Given the description of an element on the screen output the (x, y) to click on. 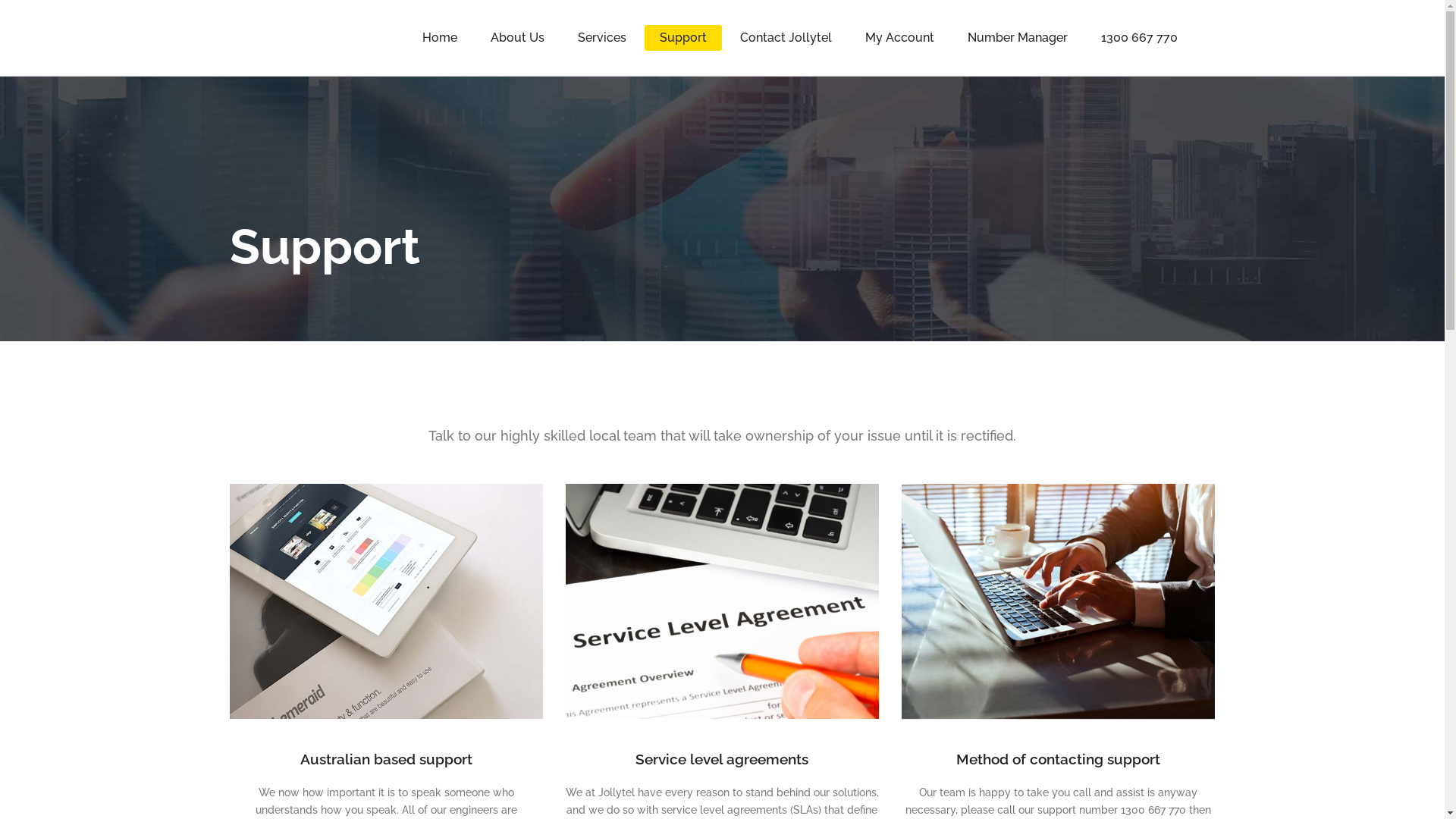
1300 667 770 Element type: text (1138, 37)
Services Element type: text (601, 37)
About Us Element type: text (516, 37)
Number Manager Element type: text (1017, 37)
Support Element type: text (682, 37)
Home Element type: text (438, 37)
My Account Element type: text (898, 37)
Contact Jollytel Element type: text (785, 37)
